Given the description of an element on the screen output the (x, y) to click on. 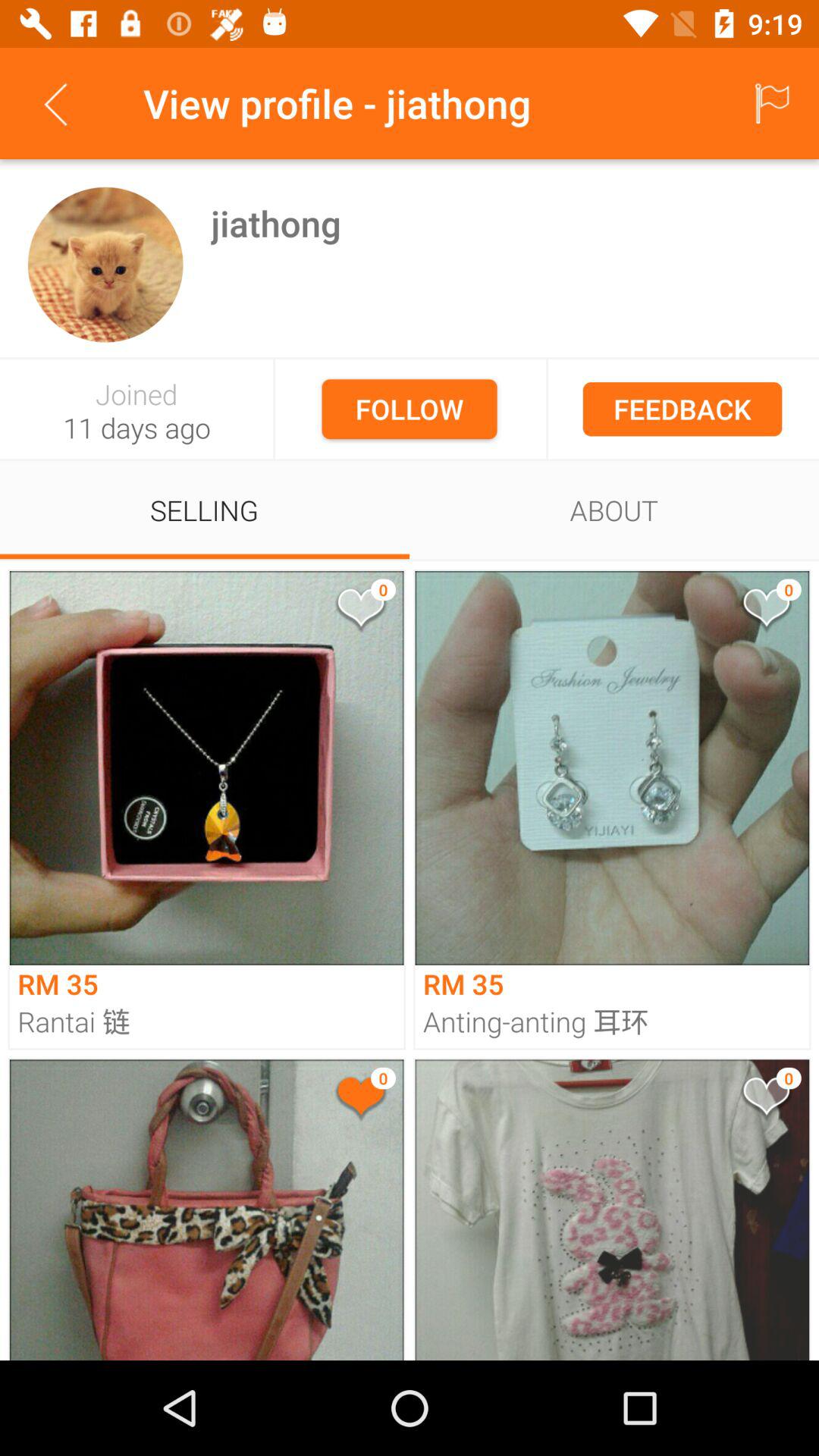
like the image (359, 610)
